Given the description of an element on the screen output the (x, y) to click on. 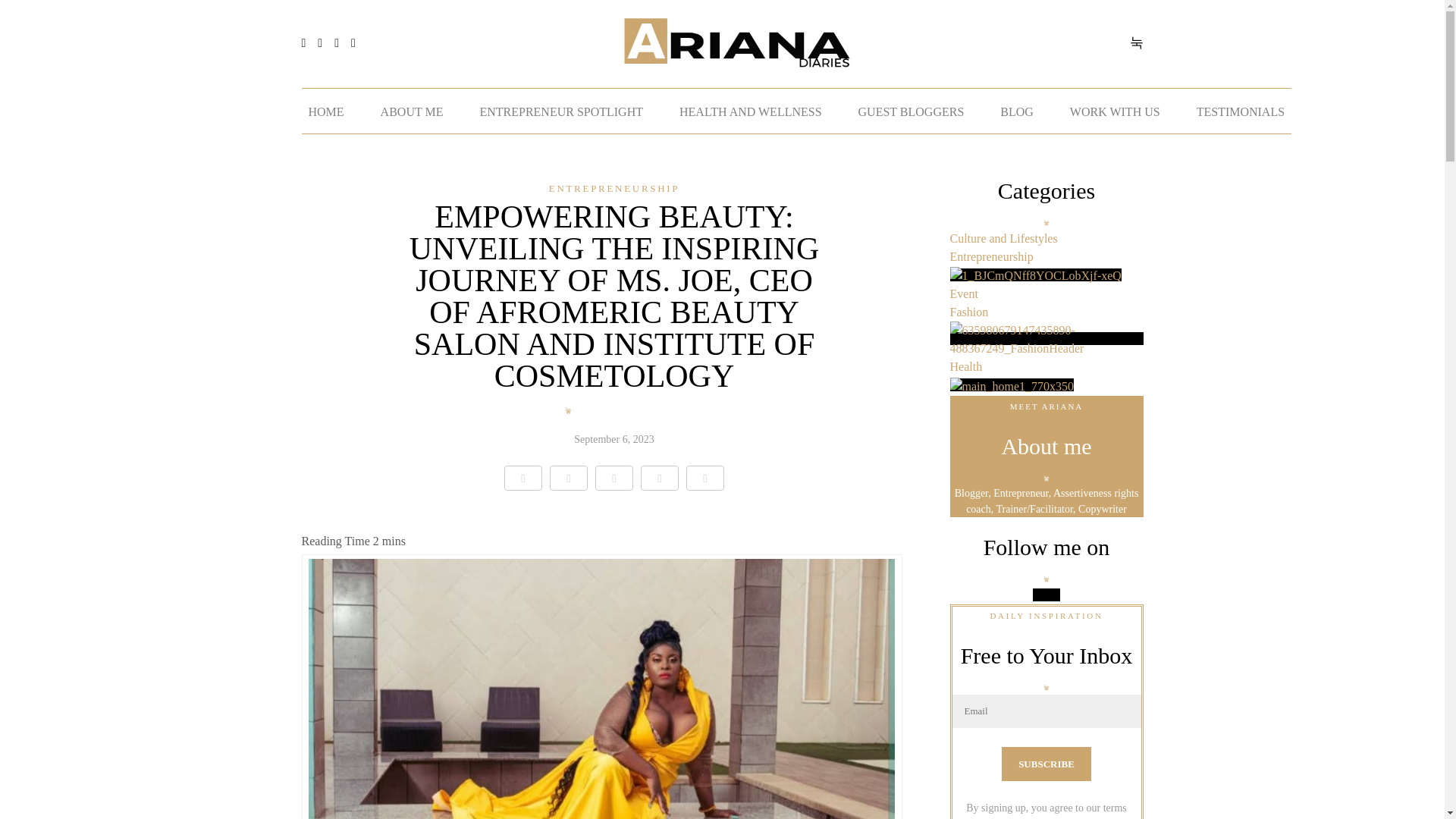
TESTIMONIALS (1240, 110)
ENTREPRENEURSHIP (613, 188)
BLOG (1016, 110)
ENTREPRENEUR SPOTLIGHT (561, 110)
Subscribe (1045, 763)
Fashion (1045, 323)
GUEST BLOGGERS (911, 110)
WORK WITH US (1114, 110)
ABOUT ME (411, 110)
Event (1045, 302)
